Given the description of an element on the screen output the (x, y) to click on. 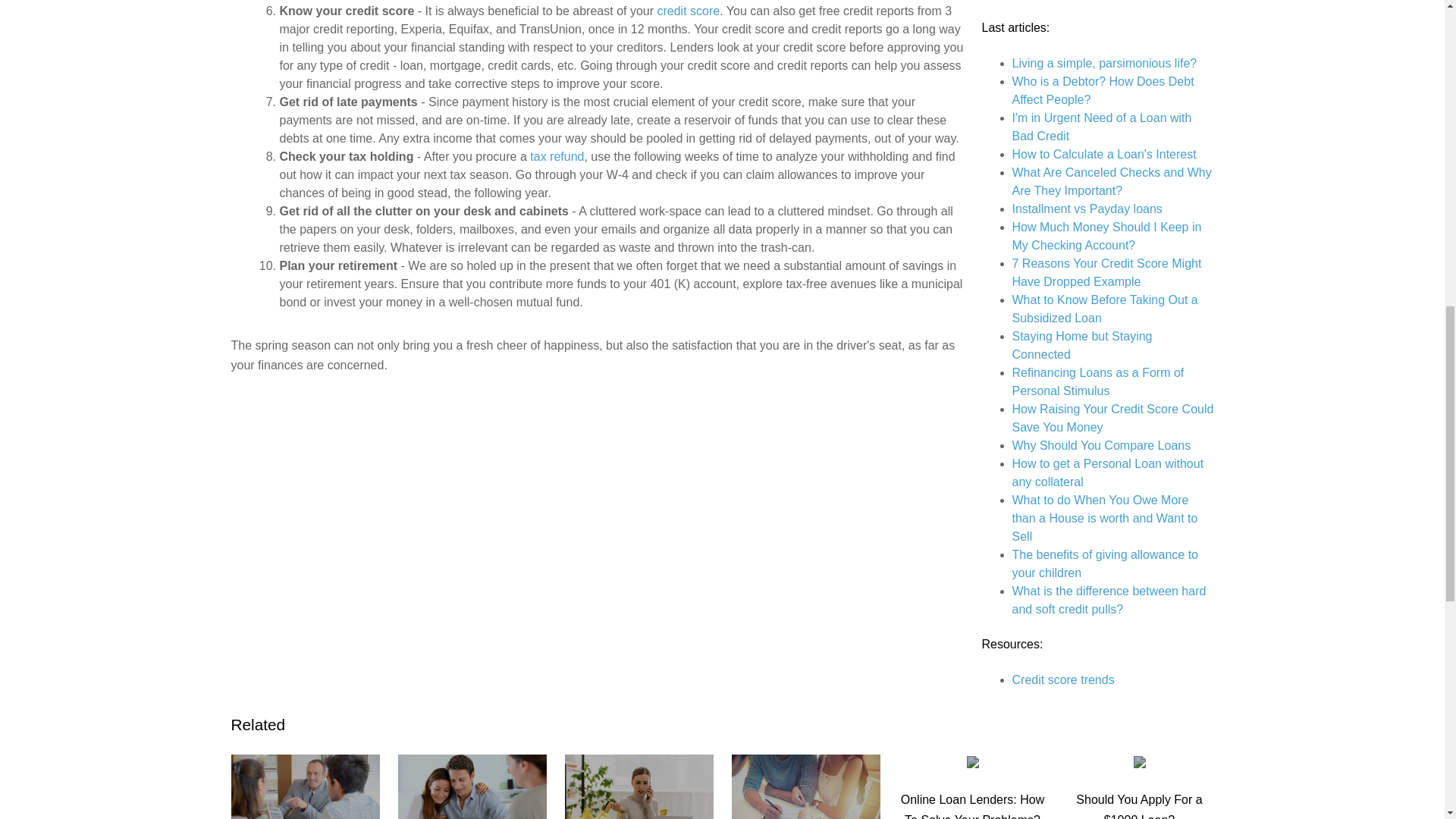
The benefits of giving allowance to your children (1103, 563)
Why Should You Compare Loans (1101, 445)
Refinancing Loans as a Form of Personal Stimulus (1097, 381)
Installment vs Payday loans (1086, 208)
Online Loan Lenders: How To Solve Your Problems? (972, 788)
How Raising Your Credit Score Could Save You Money (1111, 418)
Who is a Debtor? How Does Debt Affect People? (1102, 90)
What to Know Before Taking Out a Subsidized Loan (1103, 308)
Staying Home but Staying Connected (1081, 345)
Credit score trends (1062, 679)
